Given the description of an element on the screen output the (x, y) to click on. 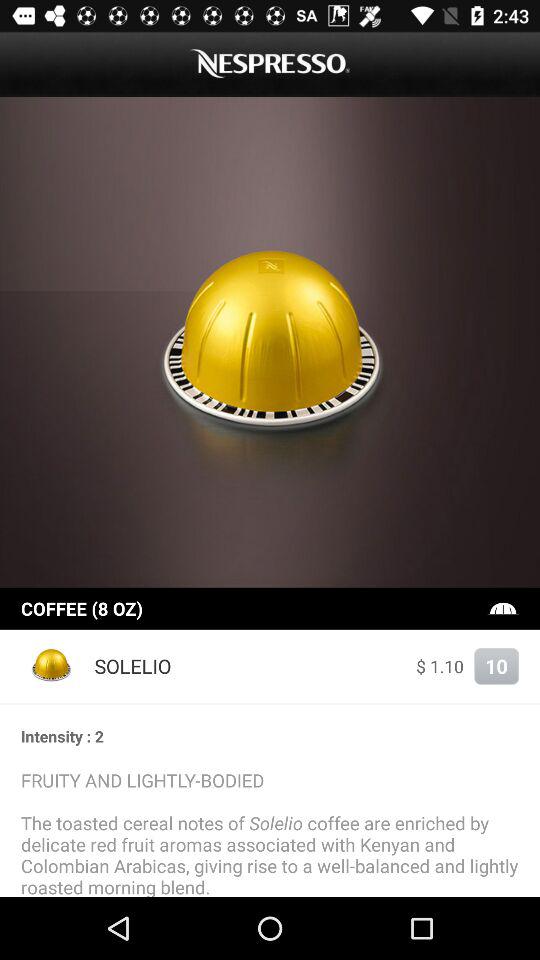
swipe until the $ 1.10 icon (439, 666)
